Given the description of an element on the screen output the (x, y) to click on. 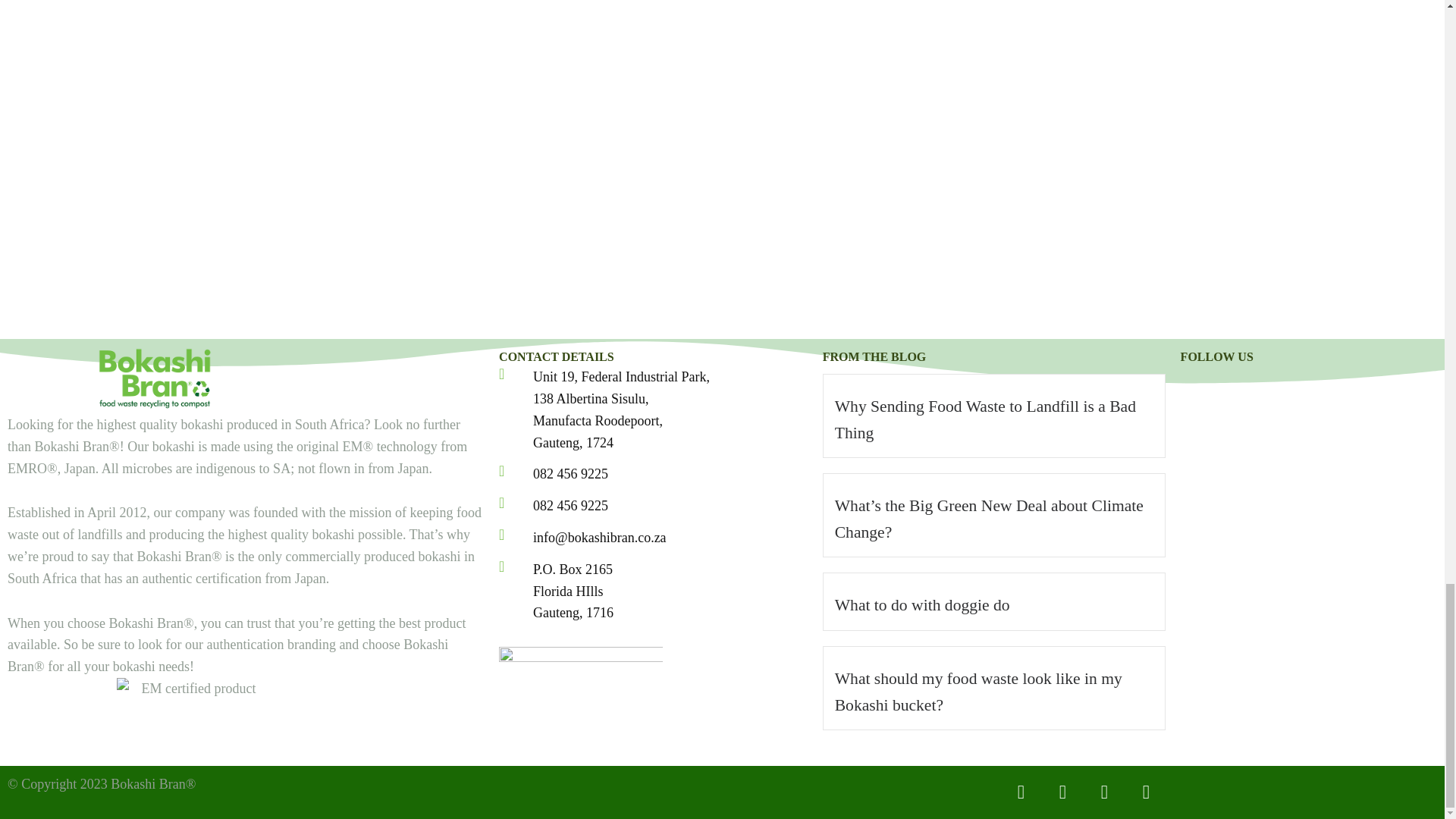
Why Sending Food Waste to Landfill is a Bad Thing (984, 419)
What should my food waste look like in my Bokashi bucket? (978, 691)
What to do with doggie do (922, 605)
